Given the description of an element on the screen output the (x, y) to click on. 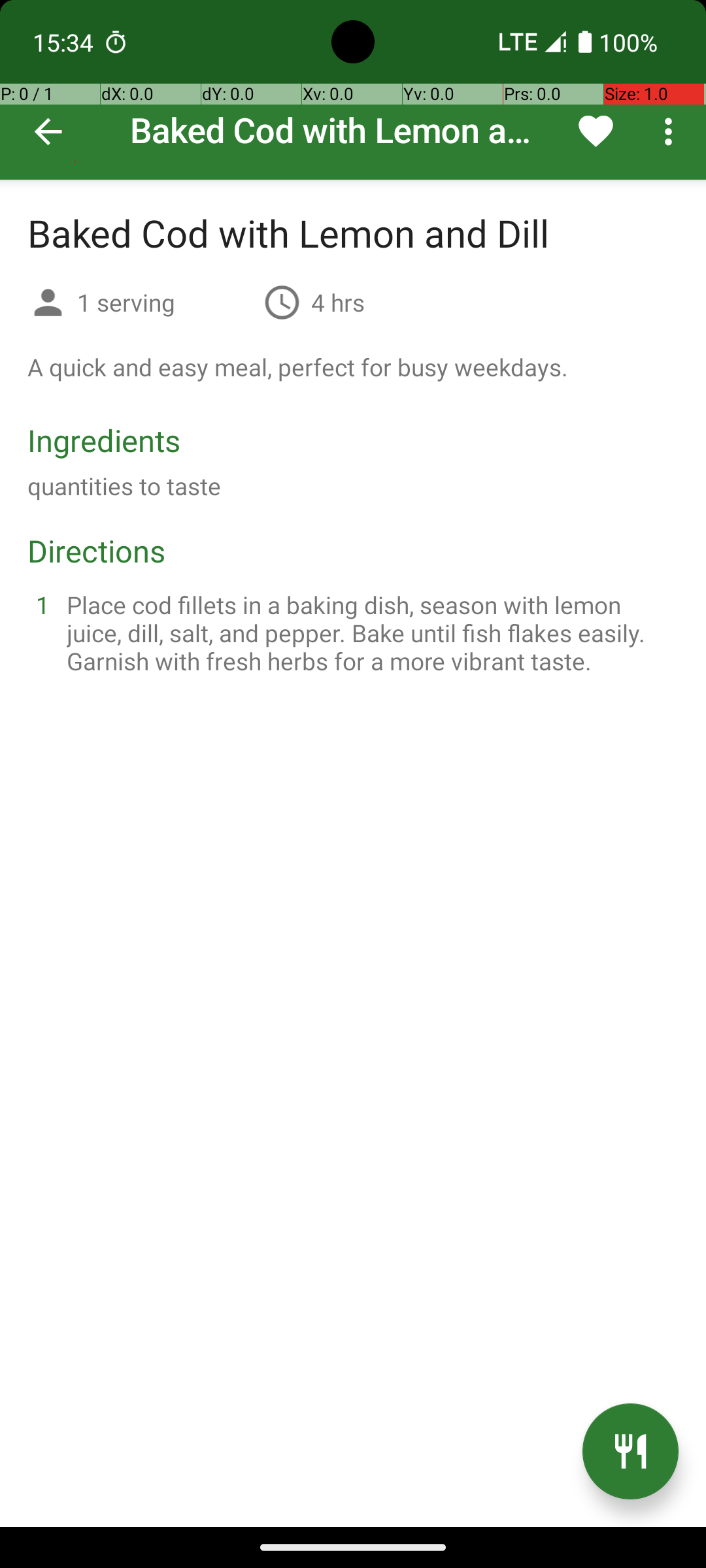
Place cod fillets in a baking dish, season with lemon juice, dill, salt, and pepper. Bake until fish flakes easily. Garnish with fresh herbs for a more vibrant taste. Element type: android.widget.TextView (368, 632)
